Given the description of an element on the screen output the (x, y) to click on. 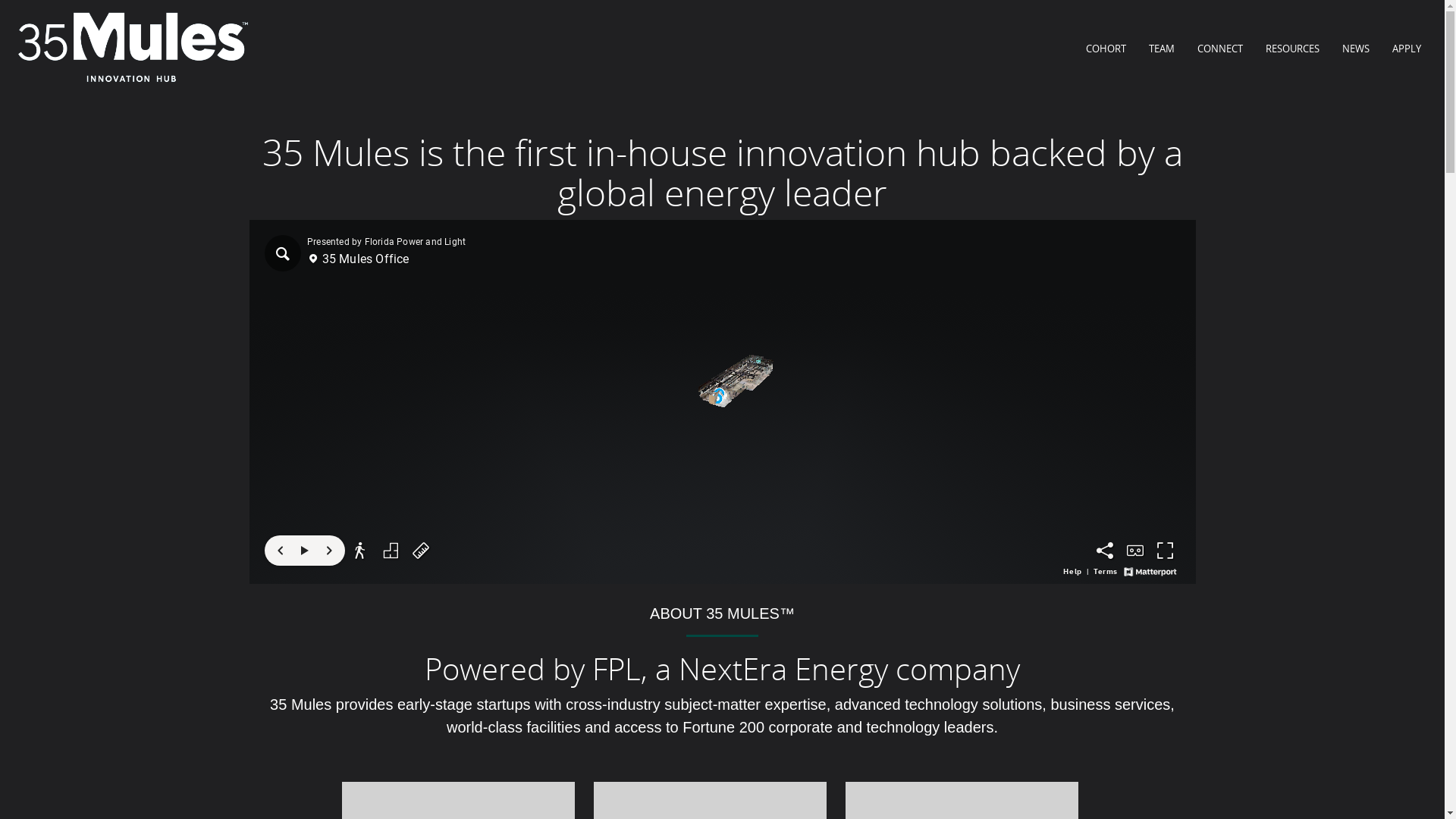
RESOURCES Element type: text (1292, 48)
COHORT Element type: text (1105, 48)
35Mules innovation hub white logo Element type: hover (132, 47)
APPLY Element type: text (1406, 48)
NEWS Element type: text (1355, 48)
CONNECT Element type: text (1220, 48)
TEAM Element type: text (1161, 48)
